Given the description of an element on the screen output the (x, y) to click on. 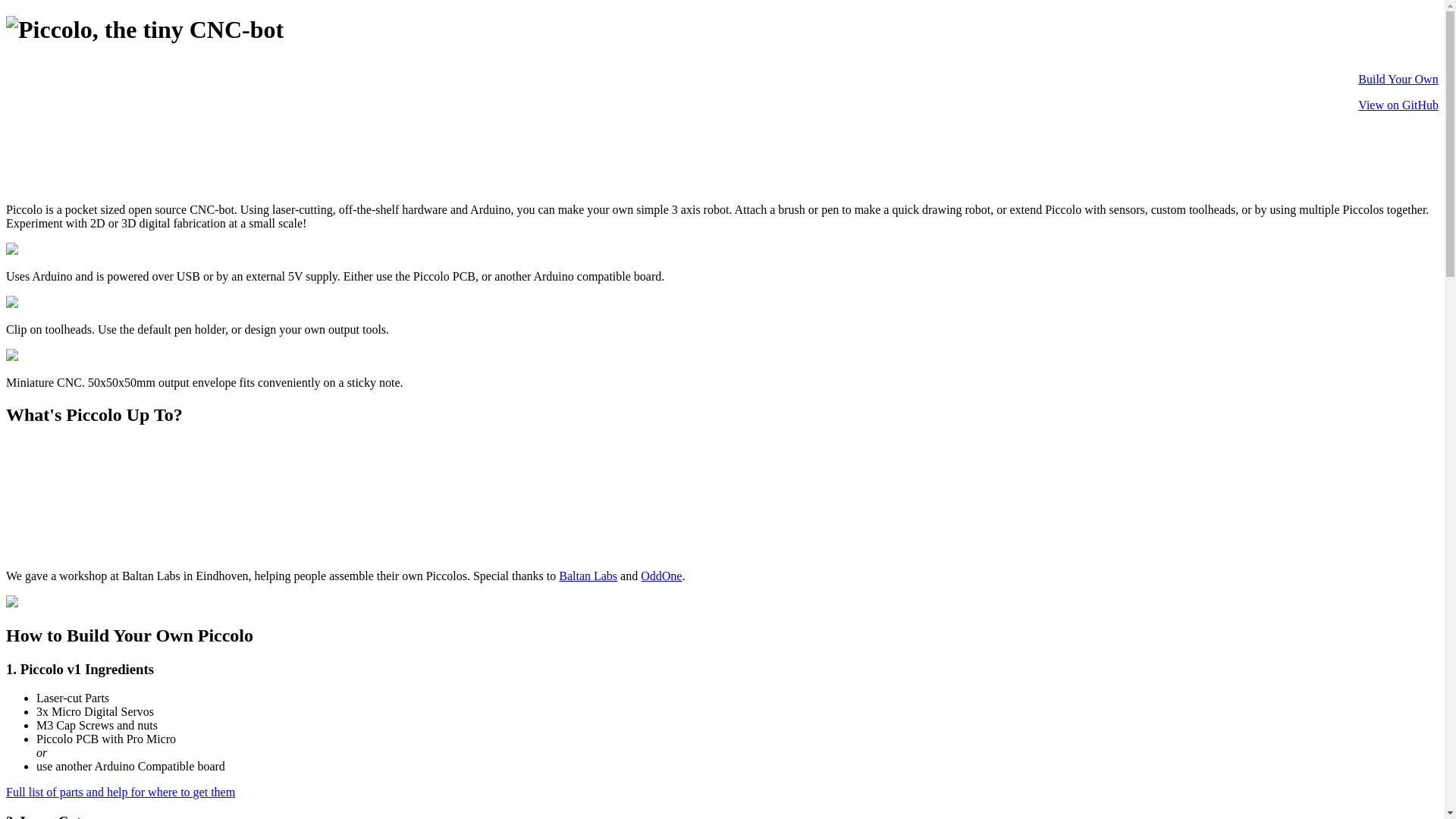
Full list of parts and help for where to get them Element type: text (120, 791)
Build Your Own Element type: text (1397, 78)
more images from the workshop on Flickr Element type: hover (12, 602)
OddOne Element type: text (660, 575)
View on GitHub Element type: text (1398, 104)
Baltan Labs Element type: text (587, 575)
